Given the description of an element on the screen output the (x, y) to click on. 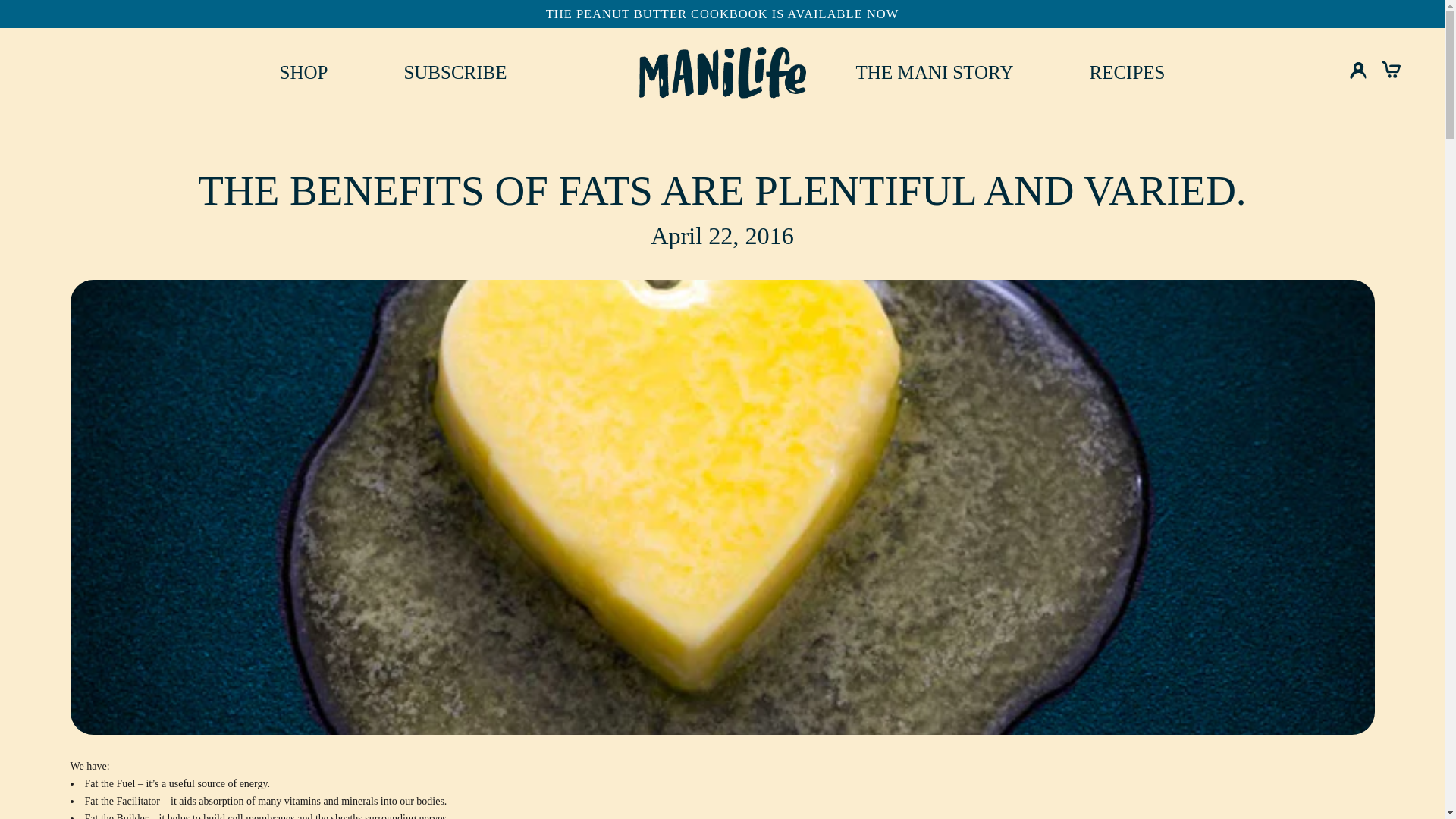
THE PEANUT BUTTER COOKBOOK IS AVAILABLE NOW (934, 72)
